Given the description of an element on the screen output the (x, y) to click on. 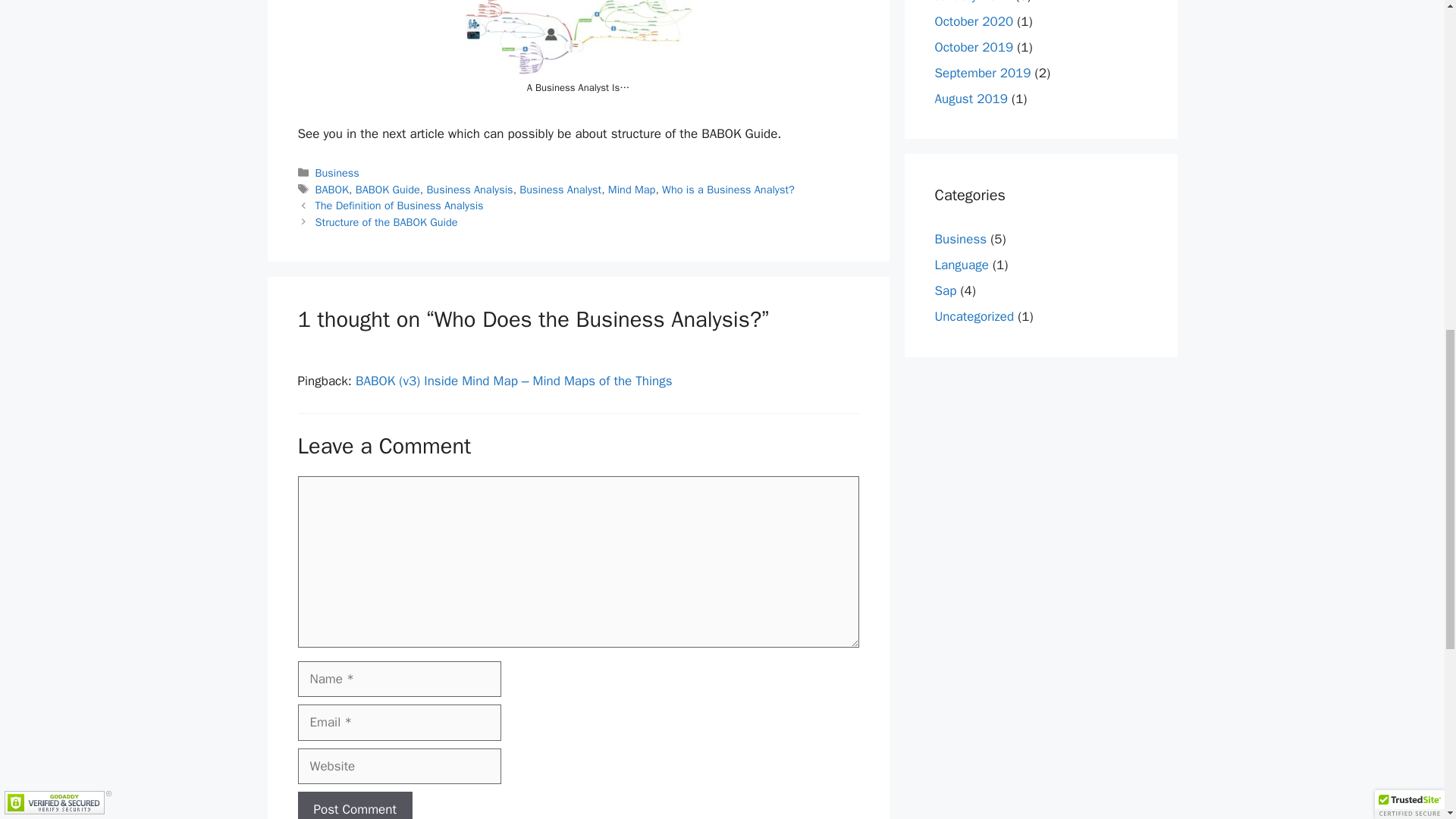
Business Analysis (469, 189)
Who is a Business Analyst? (728, 189)
Business Analyst (560, 189)
Sap (945, 290)
Post Comment (354, 805)
Business (960, 238)
BABOK Guide (387, 189)
Previous (399, 205)
Structure of the BABOK Guide (386, 222)
Post Comment (354, 805)
Mind Map (632, 189)
BABOK (332, 189)
Language (961, 264)
The Definition of Business Analysis (399, 205)
Business (337, 172)
